Given the description of an element on the screen output the (x, y) to click on. 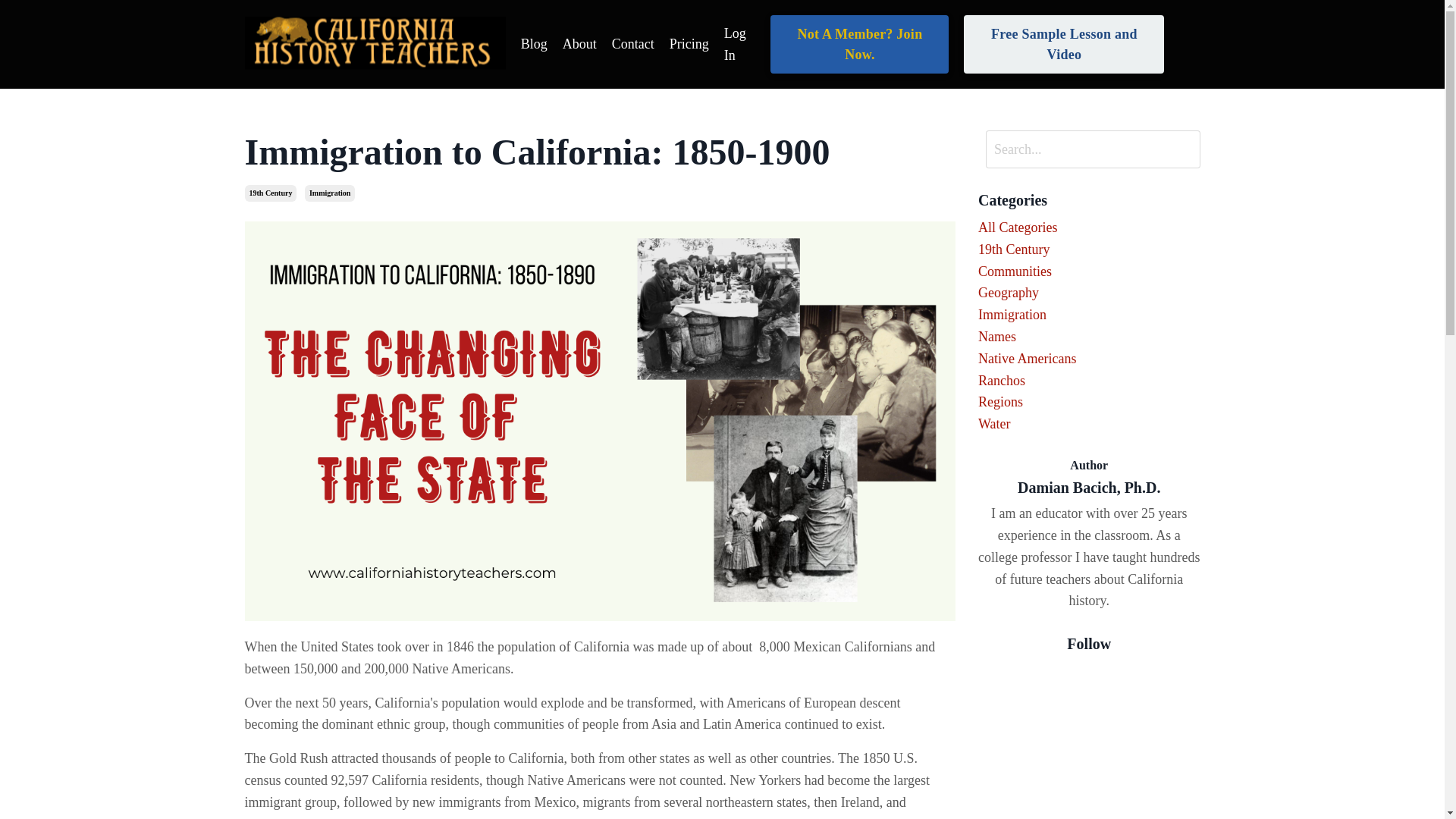
All Categories (1088, 228)
Communities (1088, 271)
Contact (632, 44)
19th Century (1088, 250)
Regions (1088, 402)
Blog (534, 44)
Names (1088, 336)
About (579, 44)
Free Sample Lesson and Video (1063, 44)
Not A Member? Join Now. (859, 44)
Ranchos (1088, 381)
Water (1088, 423)
Immigration (329, 193)
Pricing (689, 44)
Native Americans (1088, 359)
